Given the description of an element on the screen output the (x, y) to click on. 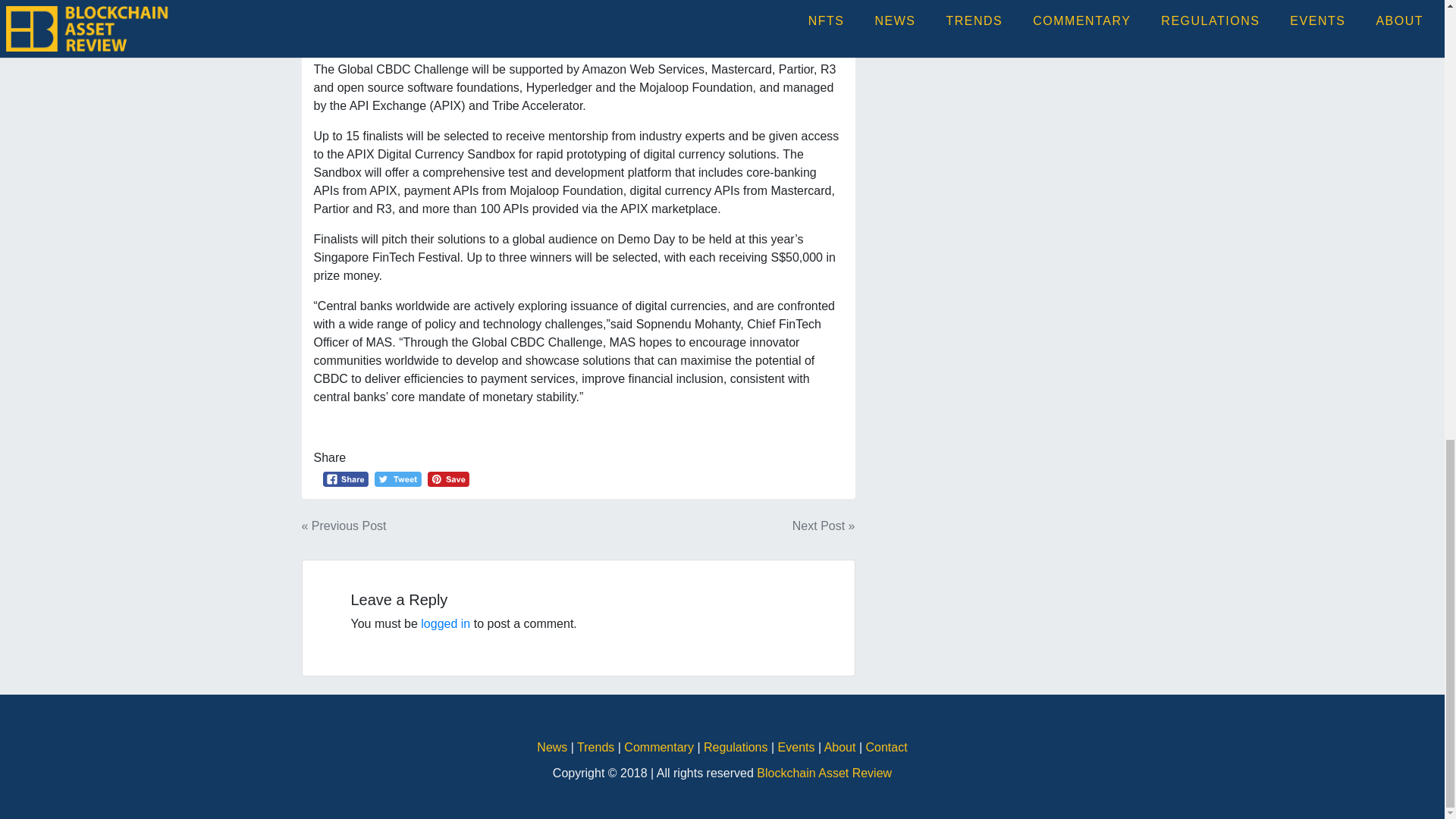
About (841, 747)
logged in (445, 623)
Contact (886, 747)
Tweet (398, 479)
Facebook Share (346, 479)
Events (797, 747)
News (553, 747)
Blockchain Asset Review (824, 772)
Regulations (737, 747)
Commentary (660, 747)
